Given the description of an element on the screen output the (x, y) to click on. 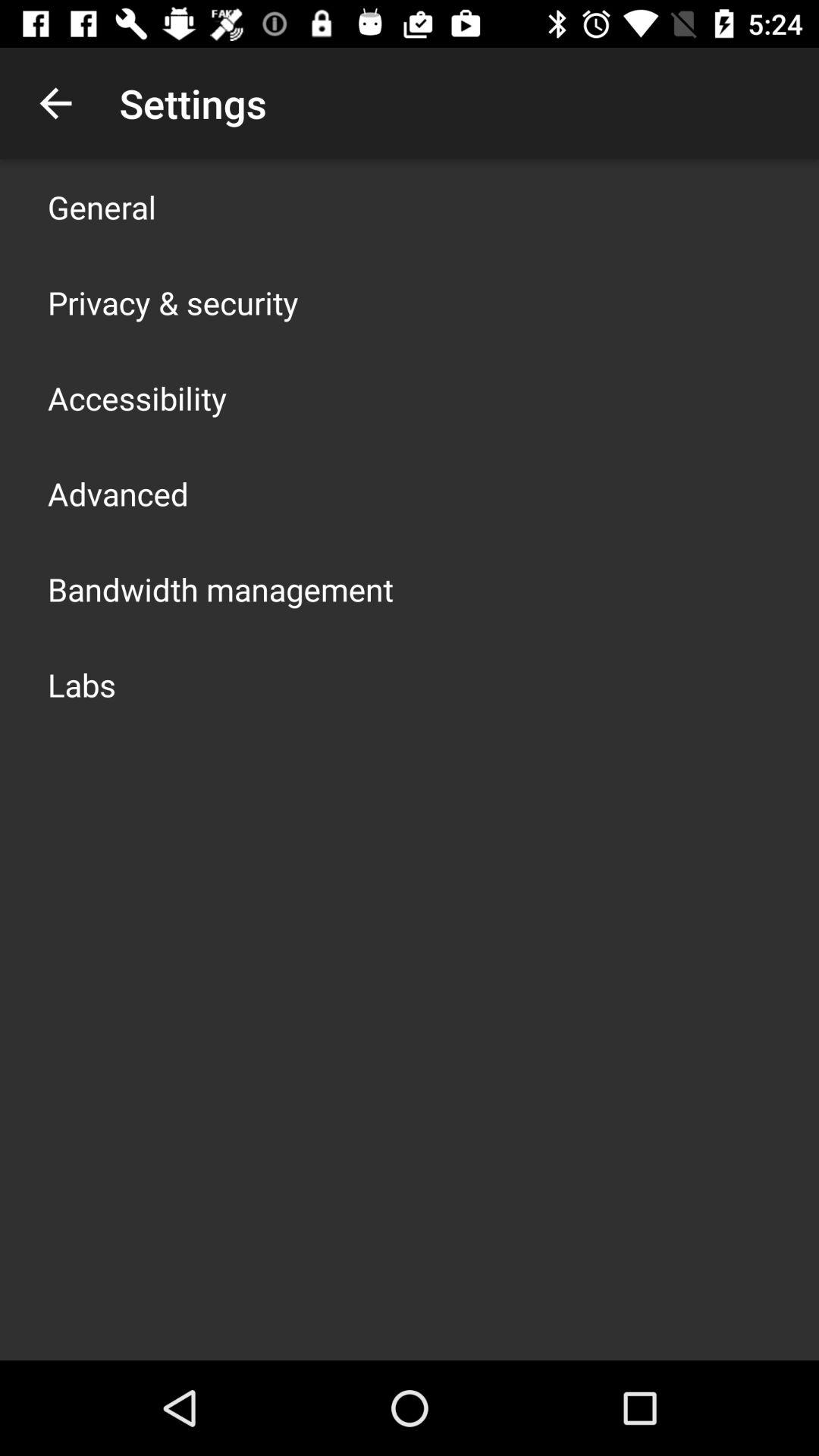
select icon above privacy & security item (101, 206)
